Given the description of an element on the screen output the (x, y) to click on. 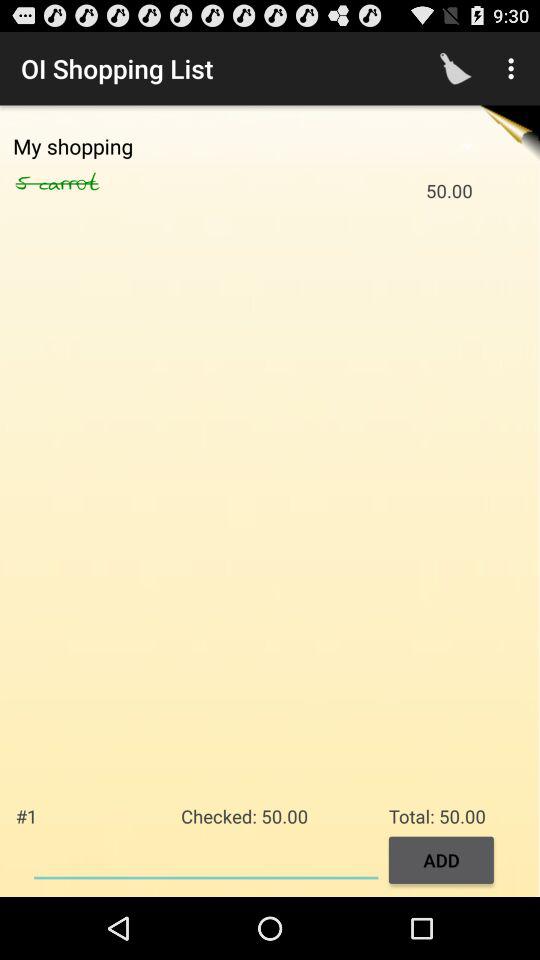
click the app to the left of the carrot  icon (27, 183)
